Given the description of an element on the screen output the (x, y) to click on. 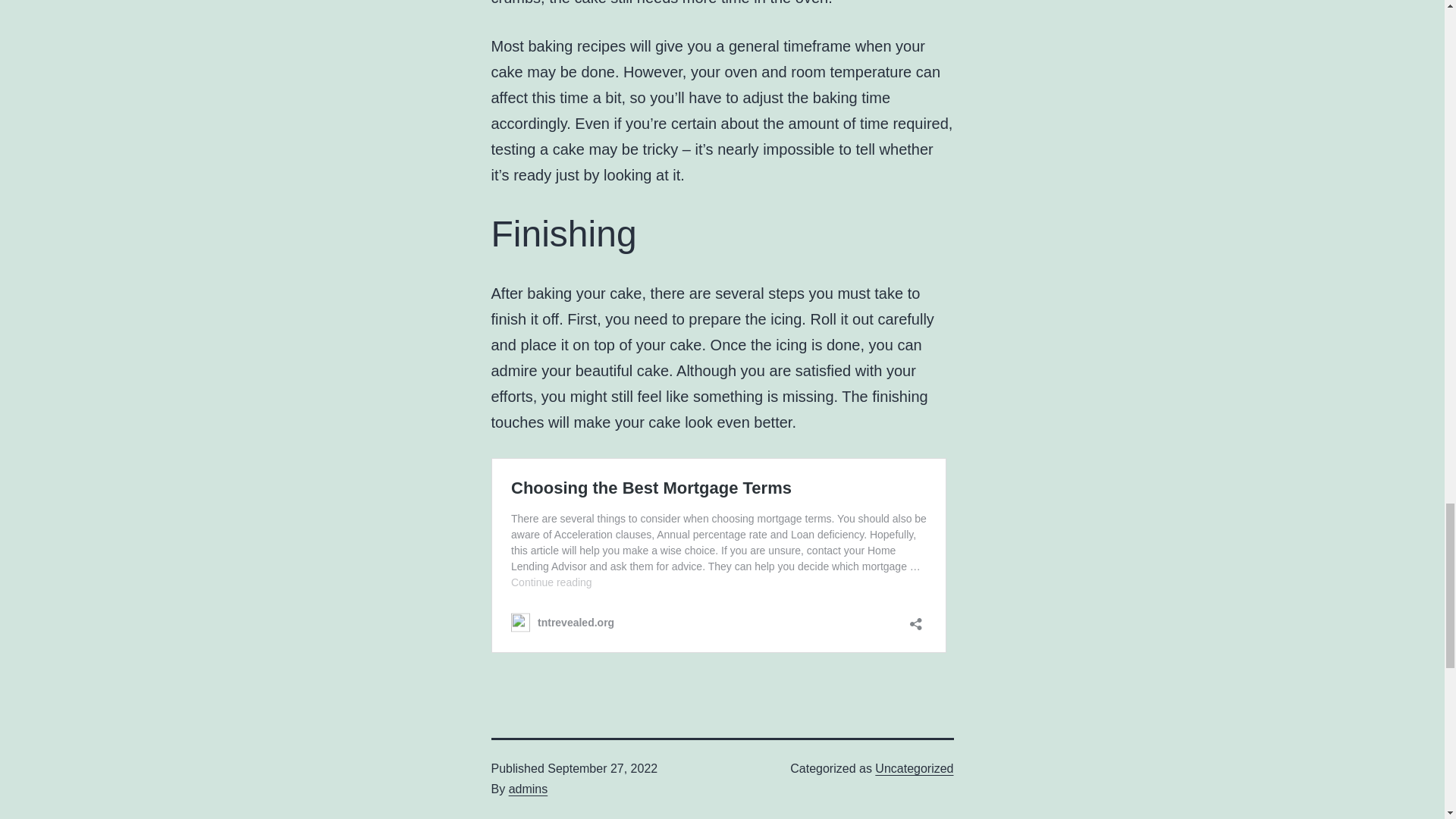
Uncategorized (914, 768)
admins (528, 788)
